Given the description of an element on the screen output the (x, y) to click on. 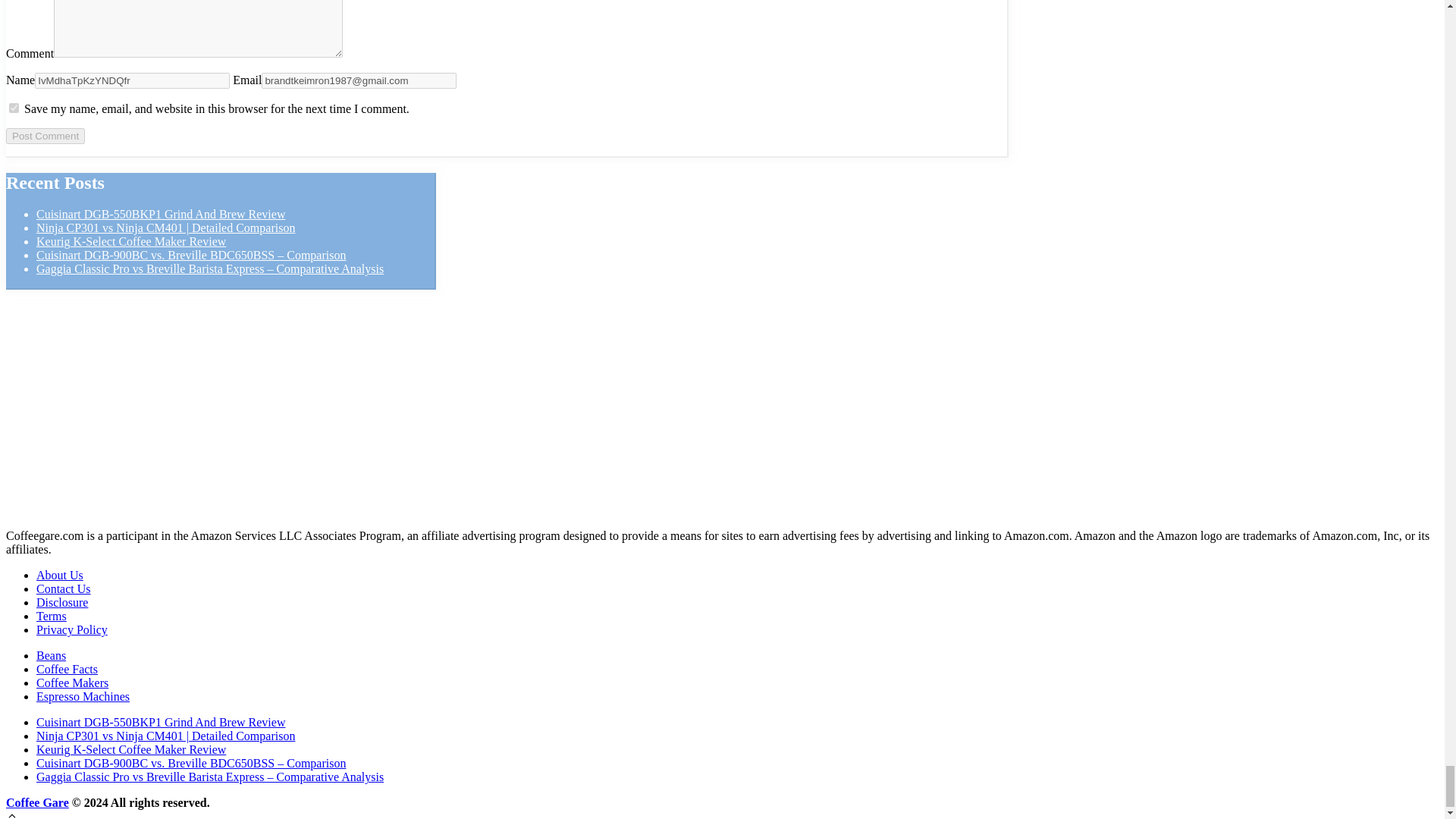
yes (13, 108)
Post Comment (44, 135)
IvMdhaTpKzYNDQfr (132, 80)
